Given the description of an element on the screen output the (x, y) to click on. 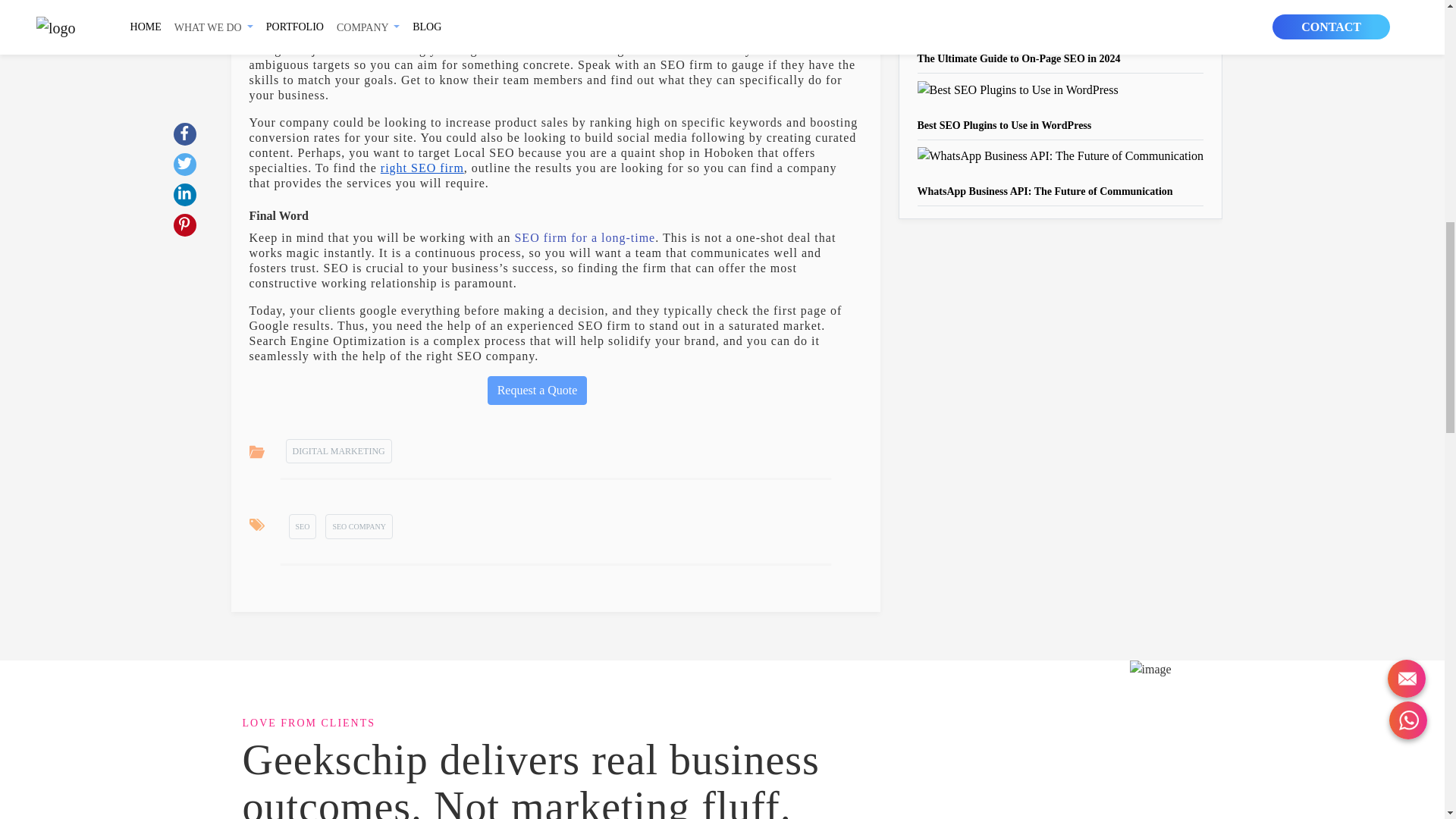
Best SEO Plugins to Use in WordPress (1004, 125)
The Ultimate Guide to On-Page SEO in 2024 (1019, 58)
right SEO firm (422, 167)
SEO firm for a long-time (584, 237)
Request a Quote (537, 389)
